Given the description of an element on the screen output the (x, y) to click on. 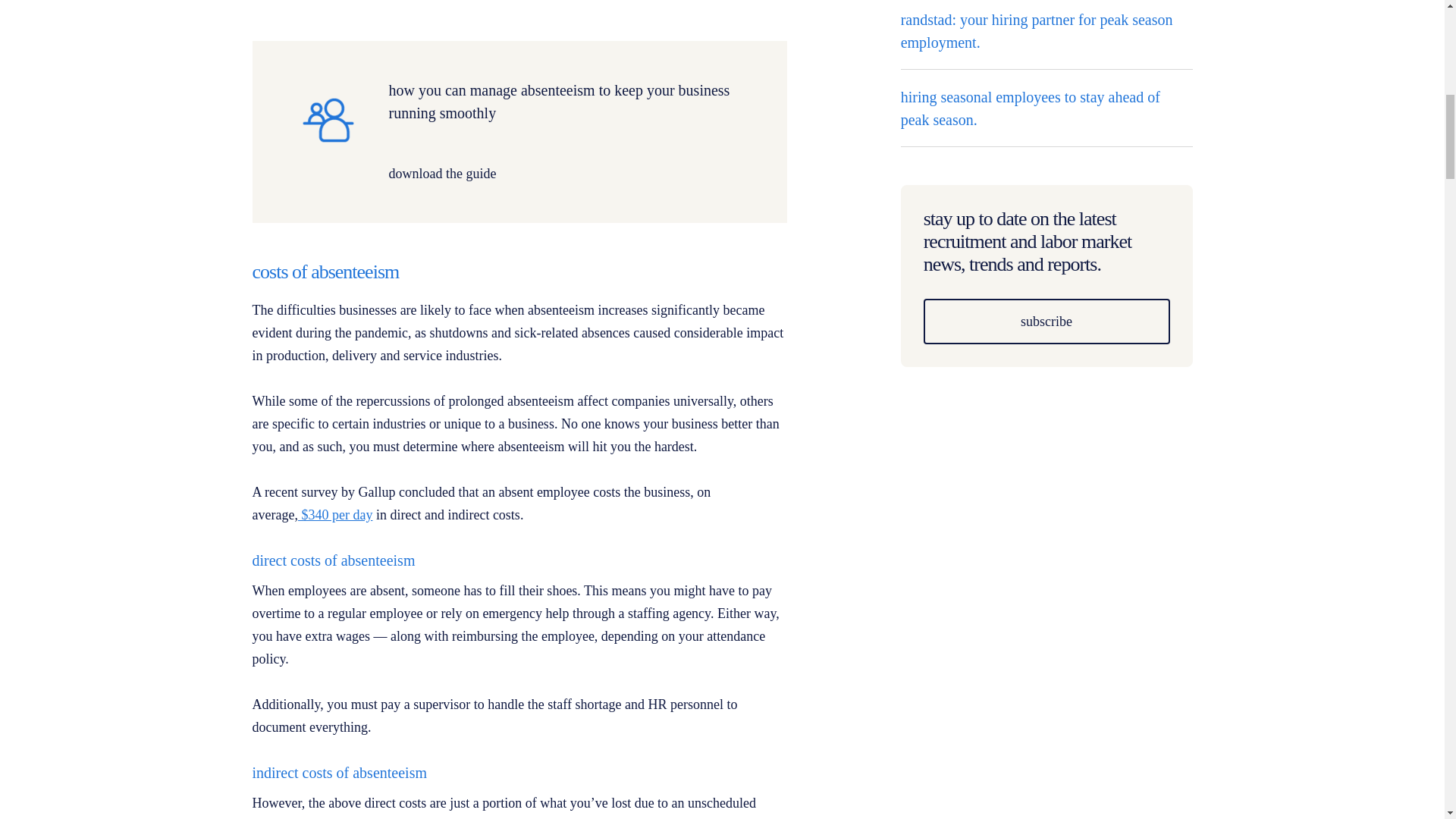
subscribe to the monthly workforce insights newsletter. (1046, 320)
how you can manage absenteeism. (568, 173)
Download (327, 116)
